Given the description of an element on the screen output the (x, y) to click on. 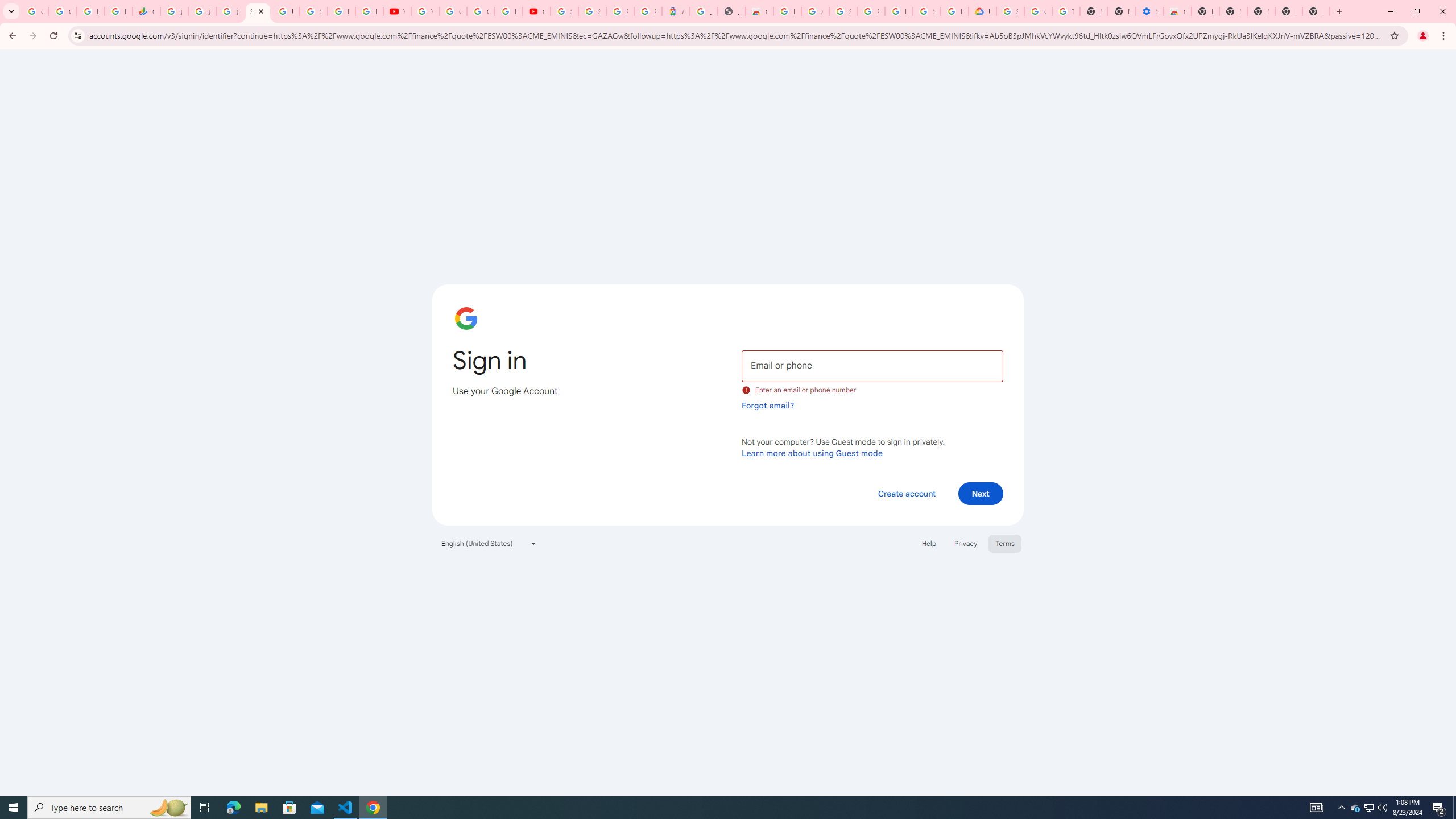
Turn cookies on or off - Computer - Google Account Help (1065, 11)
Privacy Checkup (369, 11)
Email or phone (871, 365)
Sign in - Google Accounts (842, 11)
